Given the description of an element on the screen output the (x, y) to click on. 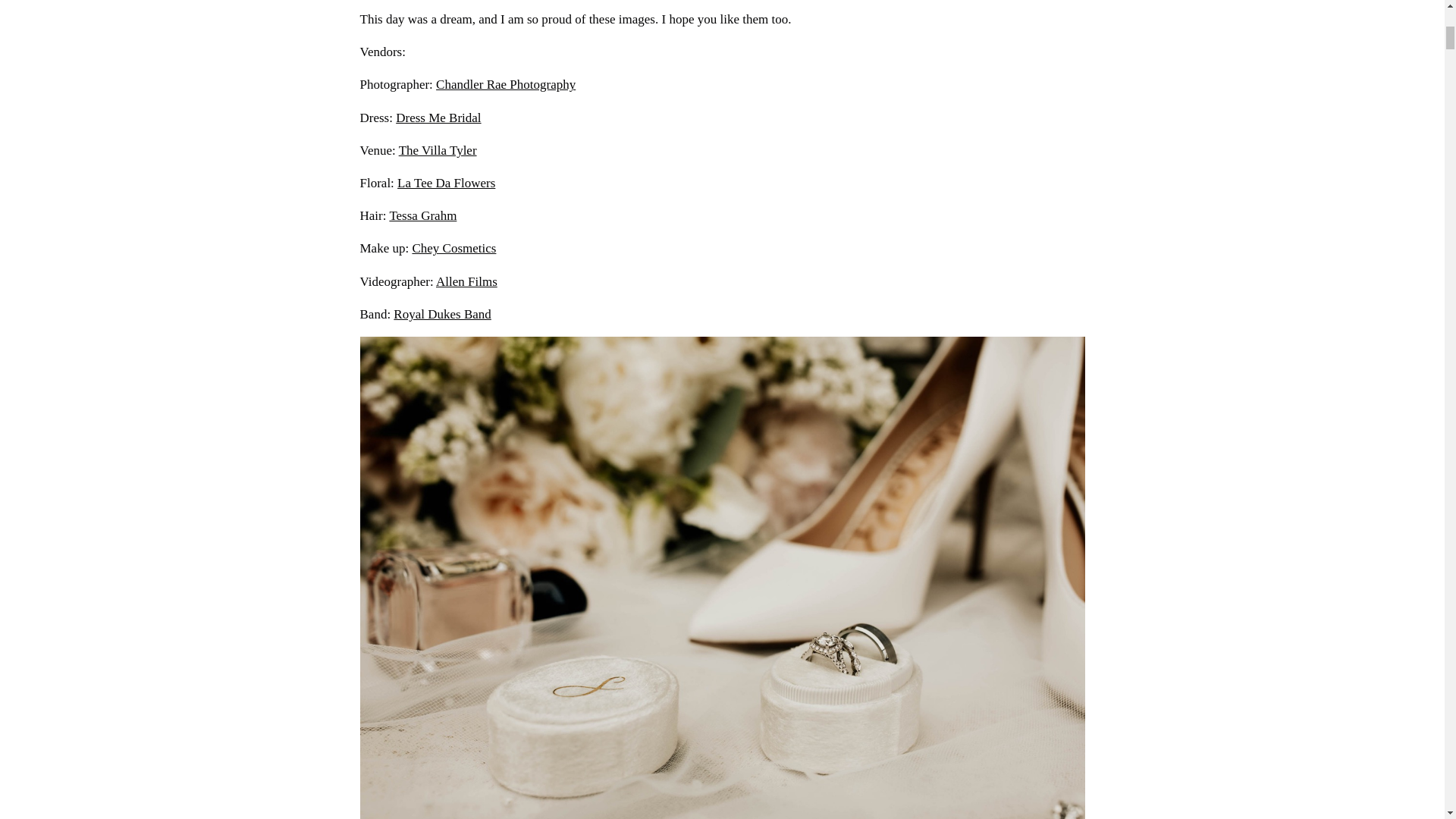
Chandler Rae Photography (505, 83)
Allen Films (466, 281)
La Tee Da Flowers (446, 183)
Royal Dukes Band (441, 314)
Dress Me Bridal (438, 117)
Chey Cosmetics (454, 247)
The Villa Tyler (437, 150)
Tessa Grahm (422, 215)
